Given the description of an element on the screen output the (x, y) to click on. 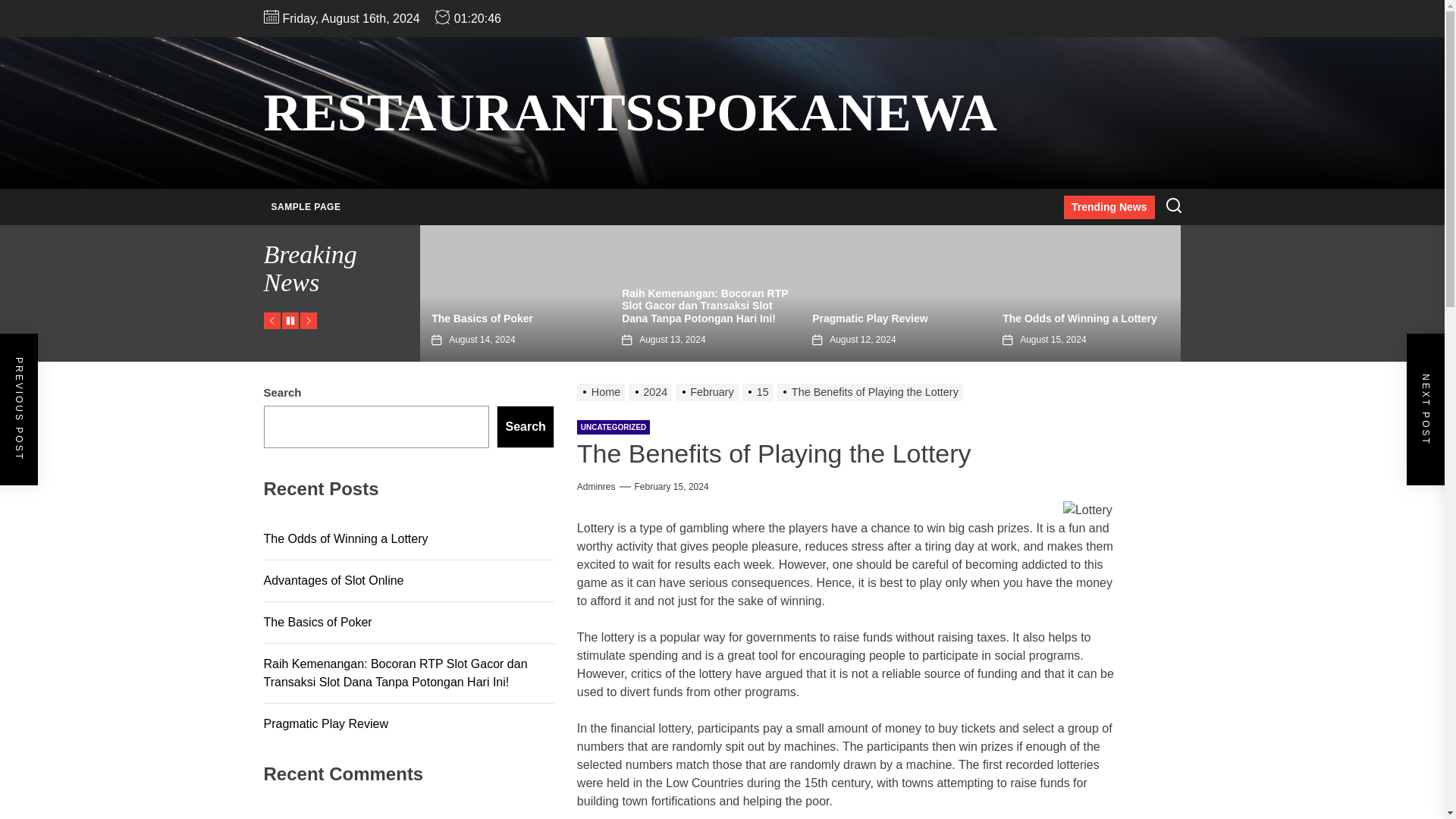
The Basics of Poker (481, 318)
Pragmatic Play Review (870, 318)
SAMPLE PAGE (306, 207)
RESTAURANTSSPOKANEWA (630, 112)
Trending News (1109, 207)
